Given the description of an element on the screen output the (x, y) to click on. 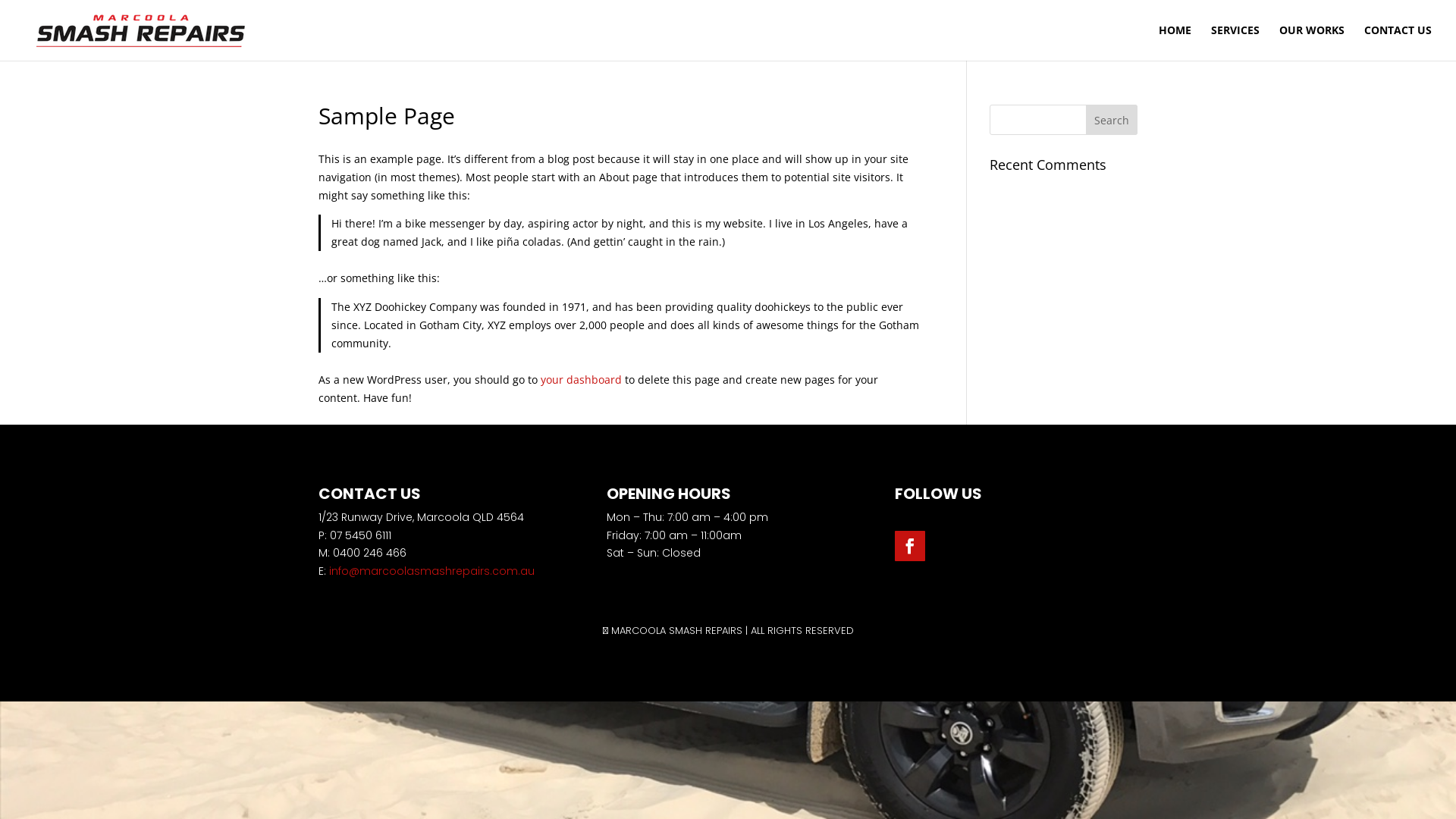
info@marcoolasmashrepairs.com.au Element type: text (431, 570)
OUR WORKS Element type: text (1311, 42)
MARCOOLA SMASH REPAIRS Element type: text (676, 630)
Follow on Facebook Element type: hover (909, 545)
CONTACT US Element type: text (1397, 42)
Search Element type: text (1111, 119)
your dashboard Element type: text (580, 379)
HOME Element type: text (1174, 42)
SERVICES Element type: text (1235, 42)
